Given the description of an element on the screen output the (x, y) to click on. 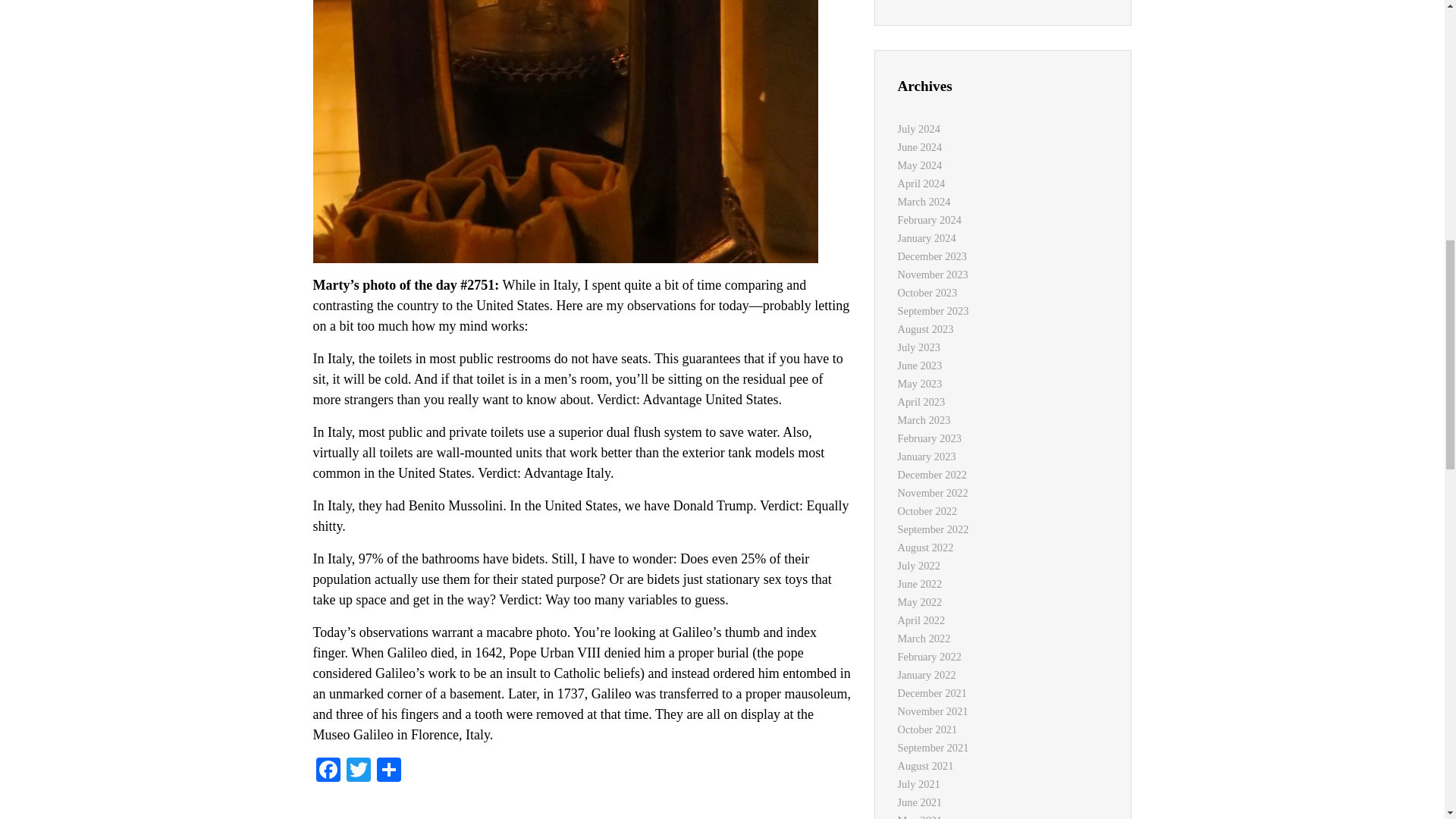
Facebook (327, 771)
Twitter (357, 771)
Facebook (327, 771)
Twitter (357, 771)
